Given the description of an element on the screen output the (x, y) to click on. 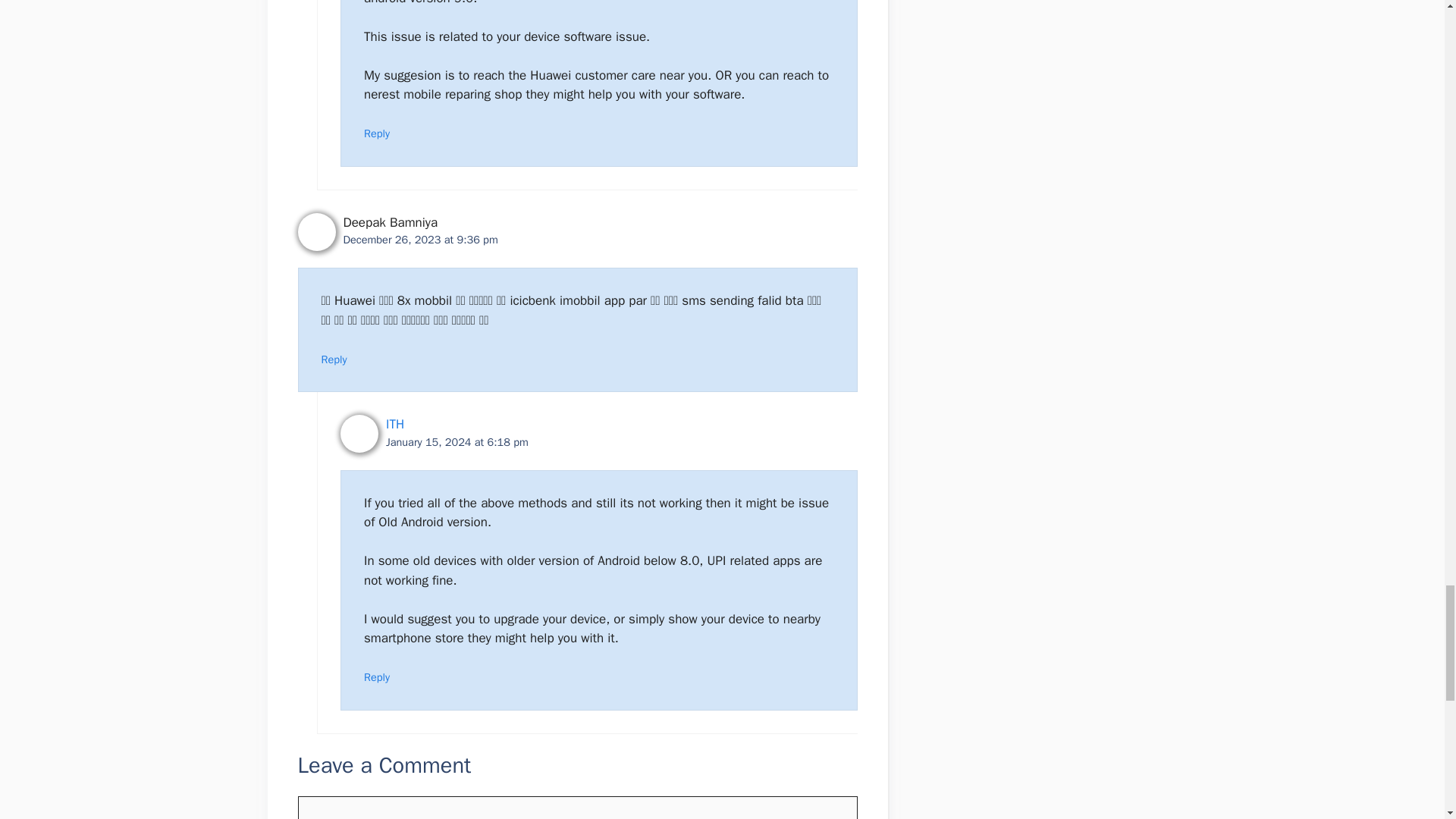
Reply (377, 133)
December 26, 2023 at 9:36 pm (419, 239)
